Given the description of an element on the screen output the (x, y) to click on. 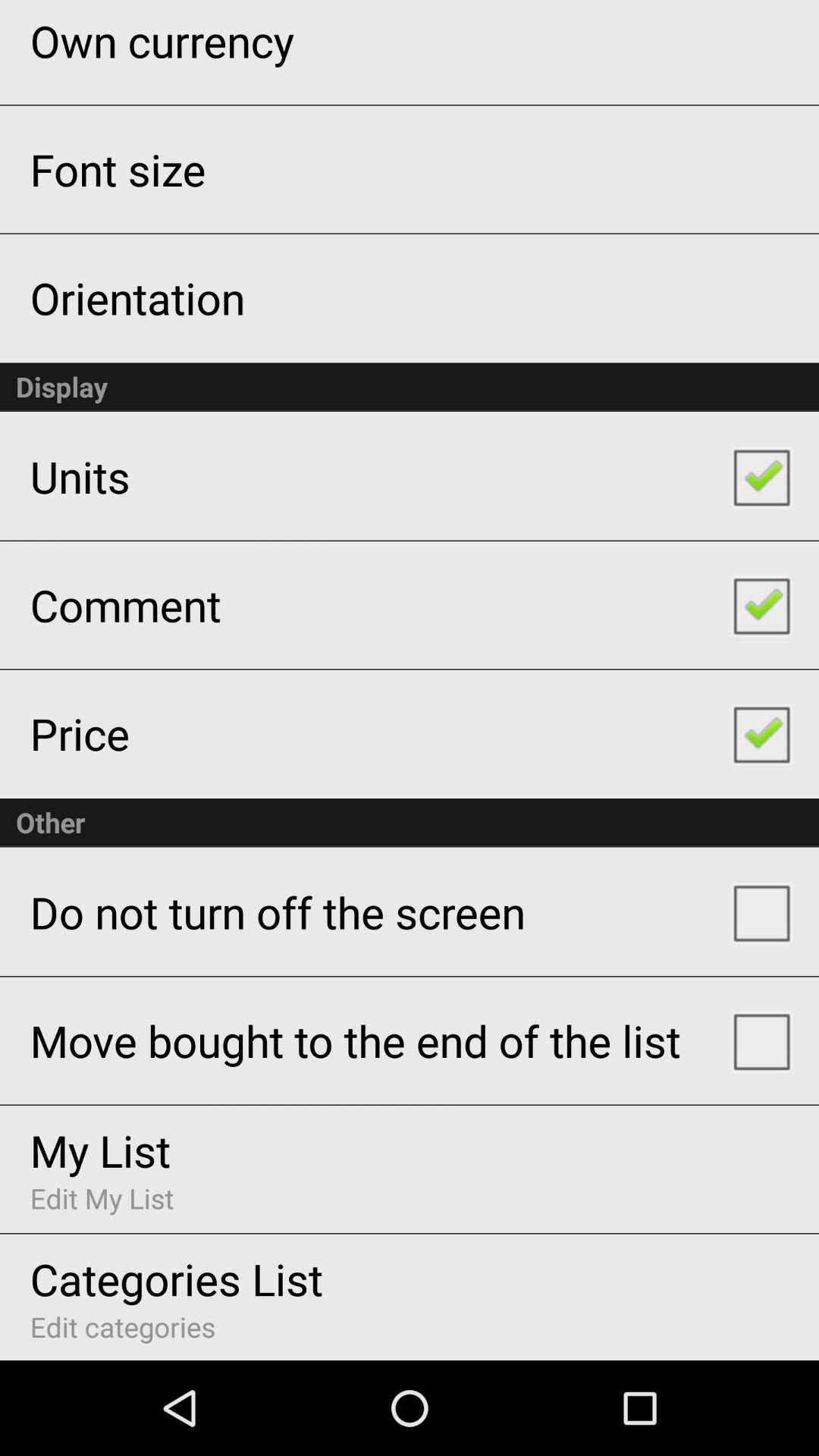
click the edit categories (122, 1326)
